Given the description of an element on the screen output the (x, y) to click on. 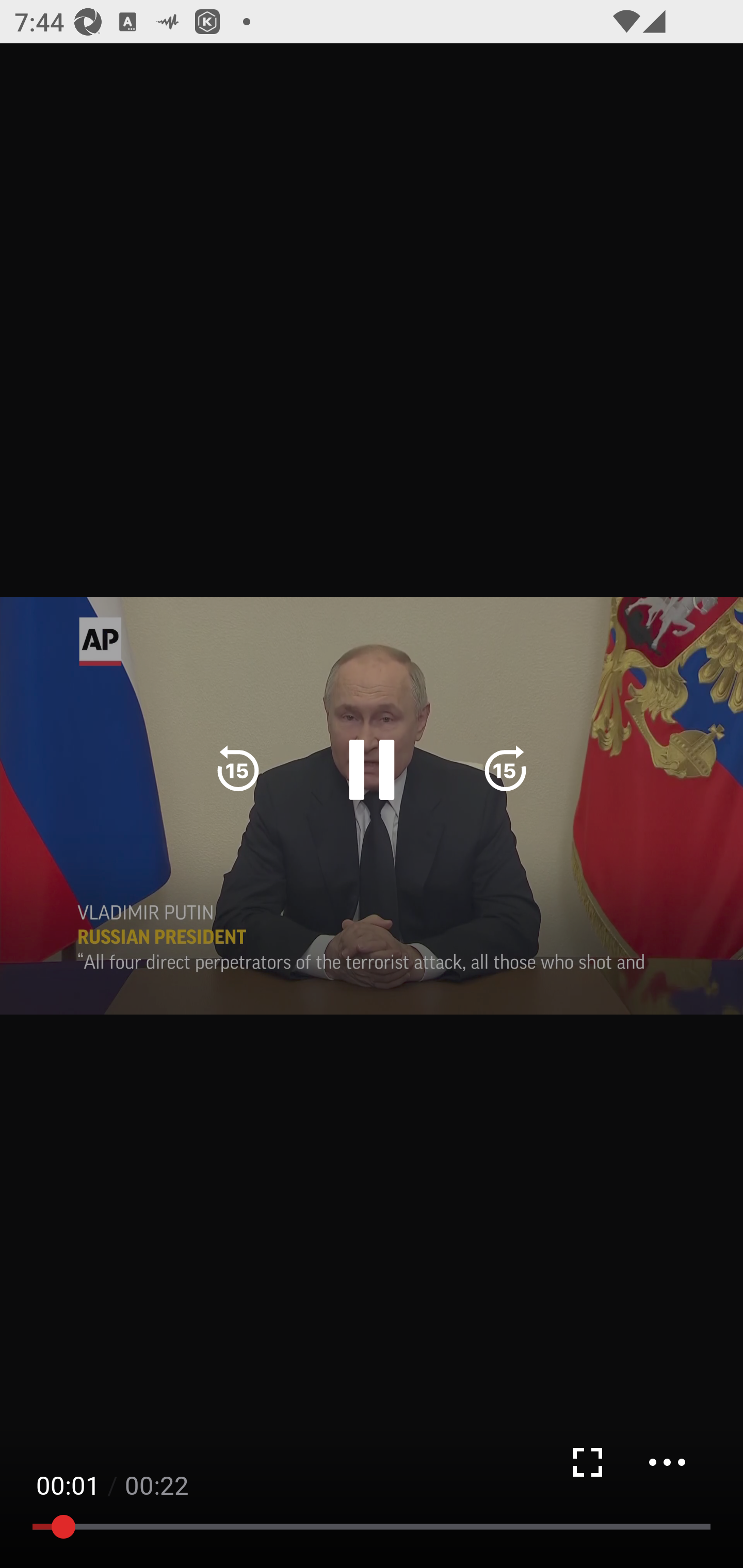
Rewind 15 seconds (238, 769)
Pause (371, 769)
fast forward 15 seconds (504, 769)
Fullscreen (587, 1462)
menu (666, 1462)
